Given the description of an element on the screen output the (x, y) to click on. 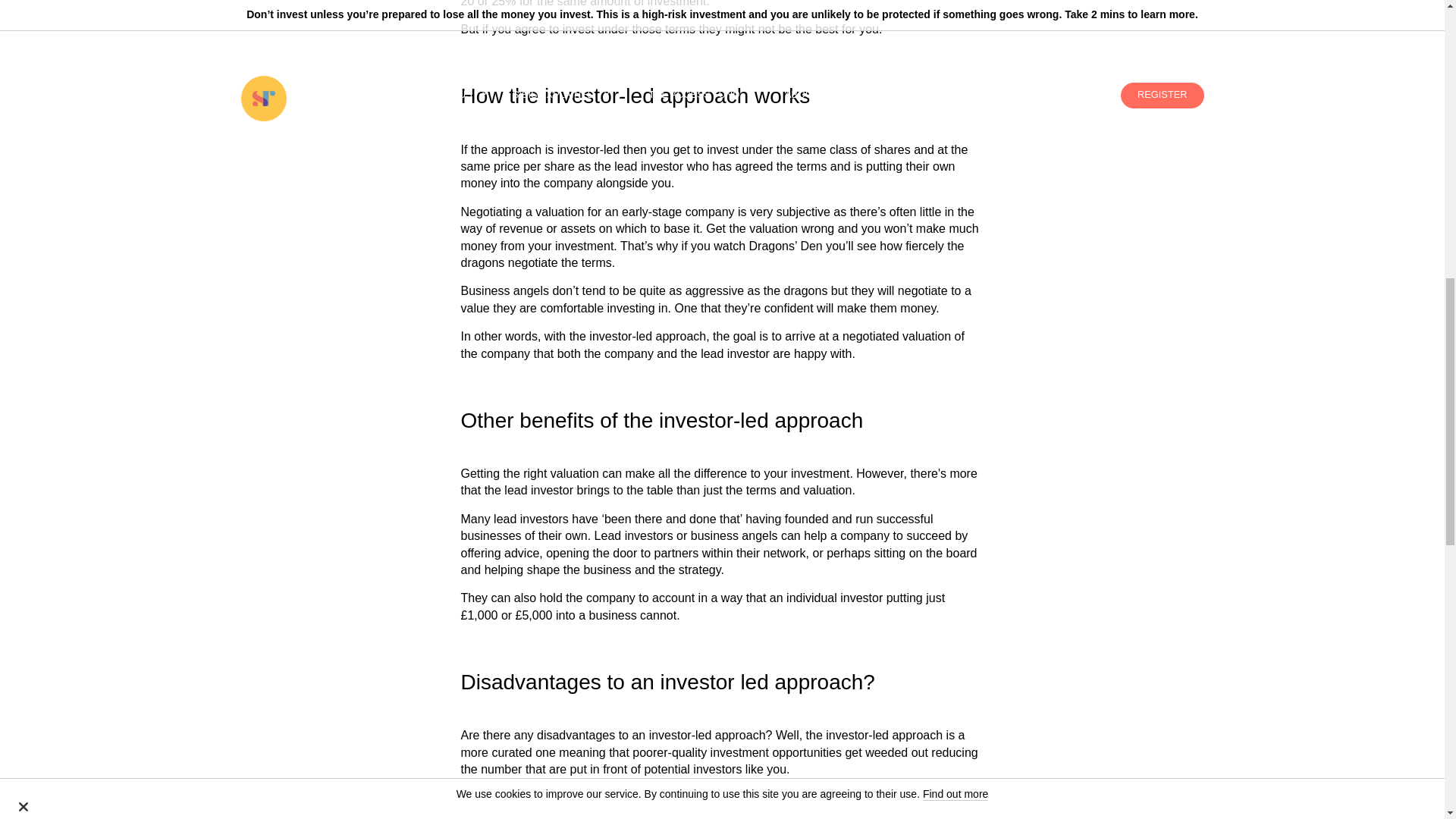
ALTERNATIVE INVESTMENTS (347, 815)
